Given the description of an element on the screen output the (x, y) to click on. 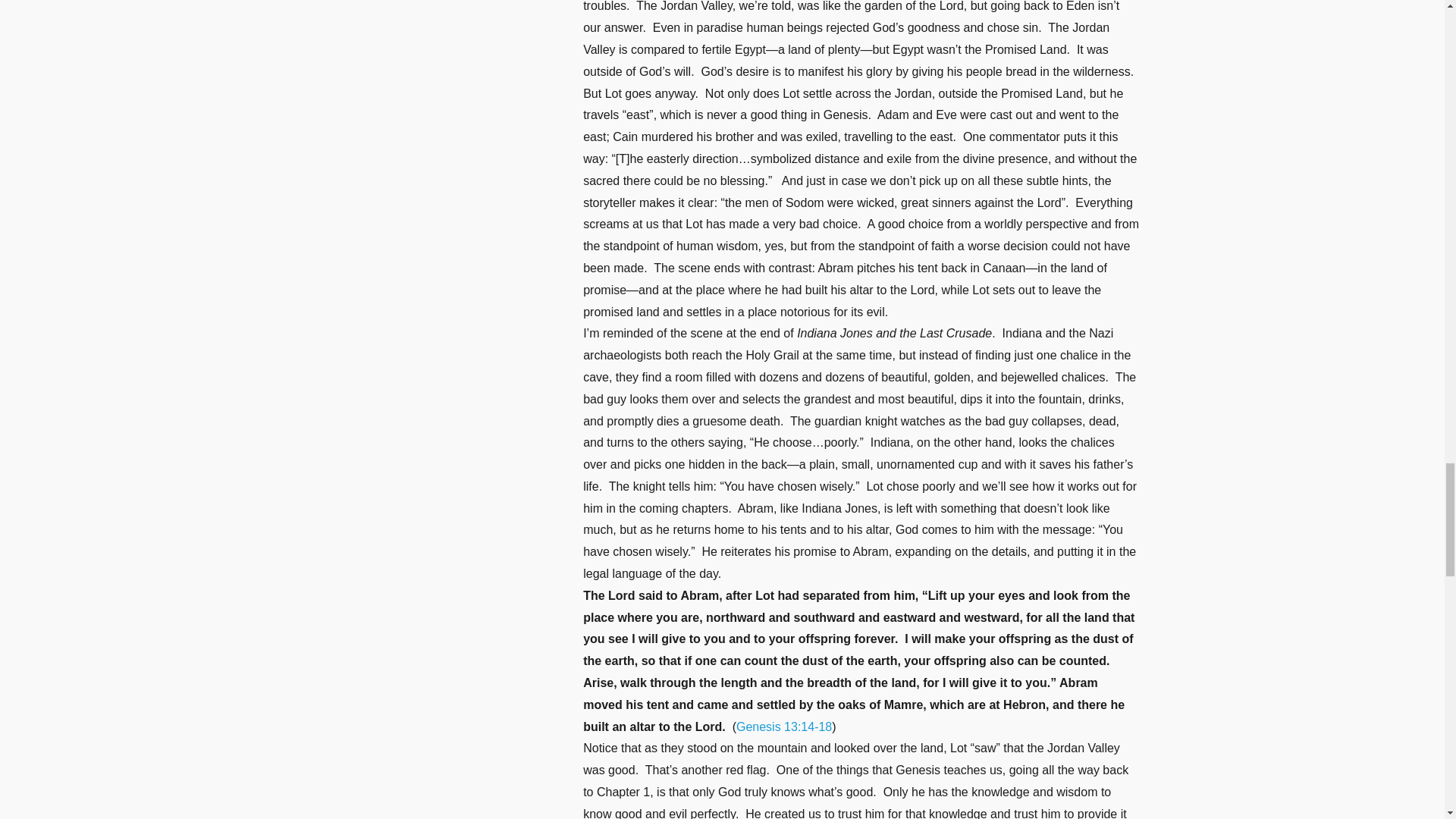
Genesis 13:14-18 (783, 726)
